Given the description of an element on the screen output the (x, y) to click on. 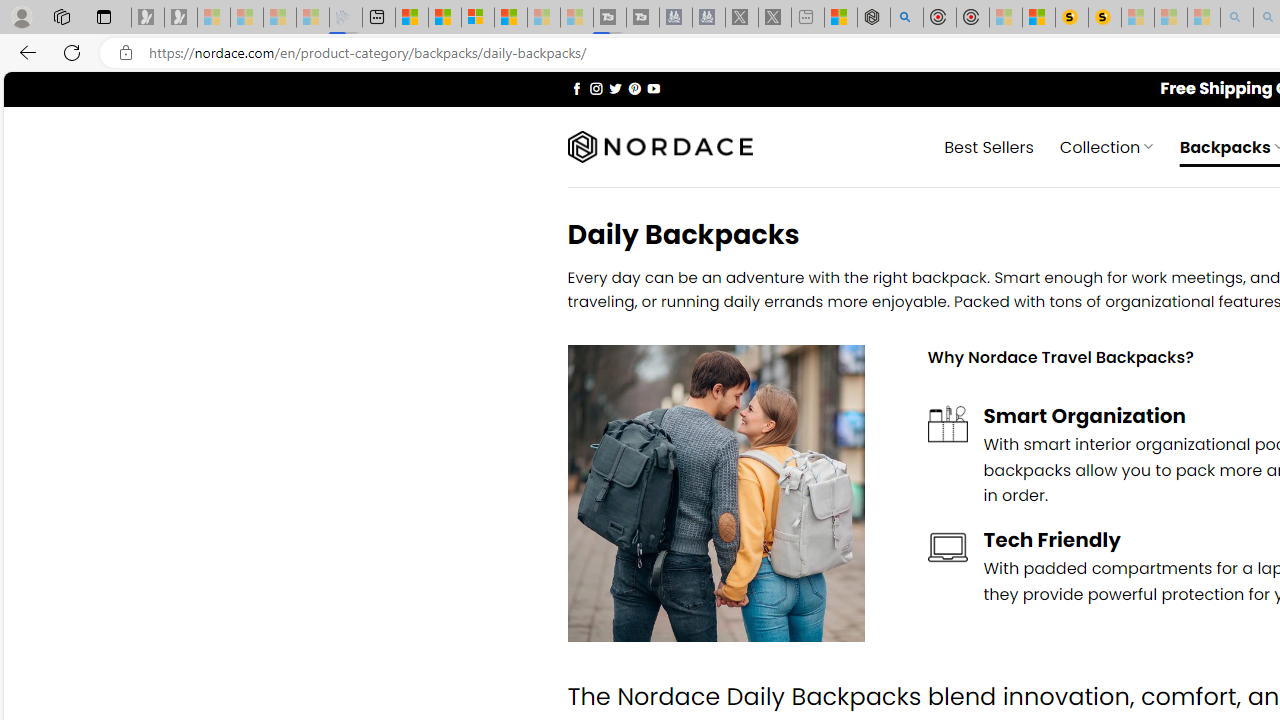
Microsoft Start - Sleeping (543, 17)
Follow on Pinterest (634, 88)
Follow on Facebook (576, 88)
poe - Search (906, 17)
  Best Sellers (989, 146)
Overview (478, 17)
